Given the description of an element on the screen output the (x, y) to click on. 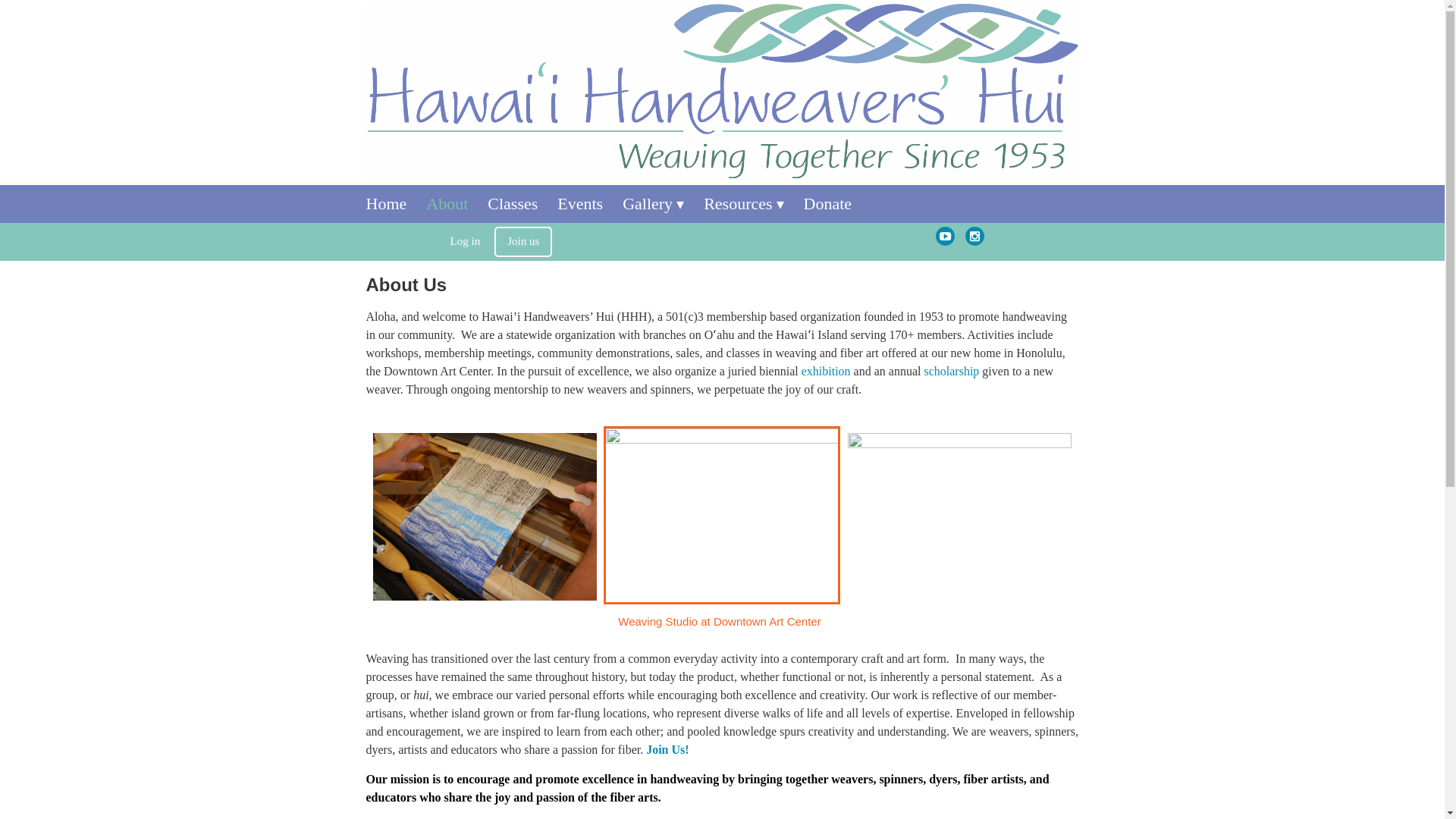
Classes (522, 203)
Gallery (663, 203)
Home (395, 203)
Log in (465, 241)
exhibition (826, 370)
Resources (753, 203)
scholarship (950, 370)
Events (590, 203)
About (456, 203)
Join us (523, 241)
